Given the description of an element on the screen output the (x, y) to click on. 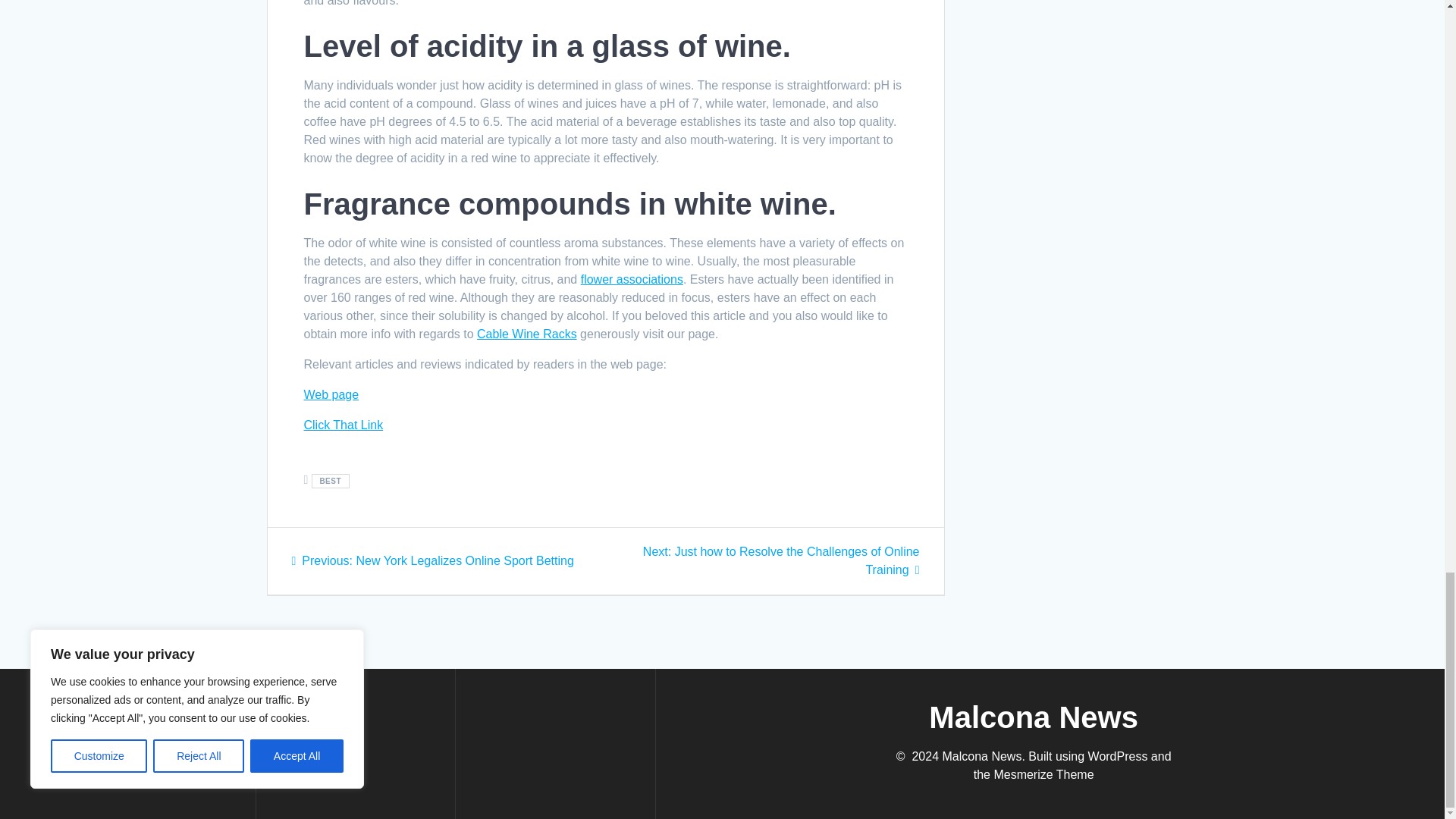
Web page (330, 394)
flower associations (631, 278)
Click That Link (342, 424)
Cable Wine Racks (526, 333)
BEST (330, 481)
